Given the description of an element on the screen output the (x, y) to click on. 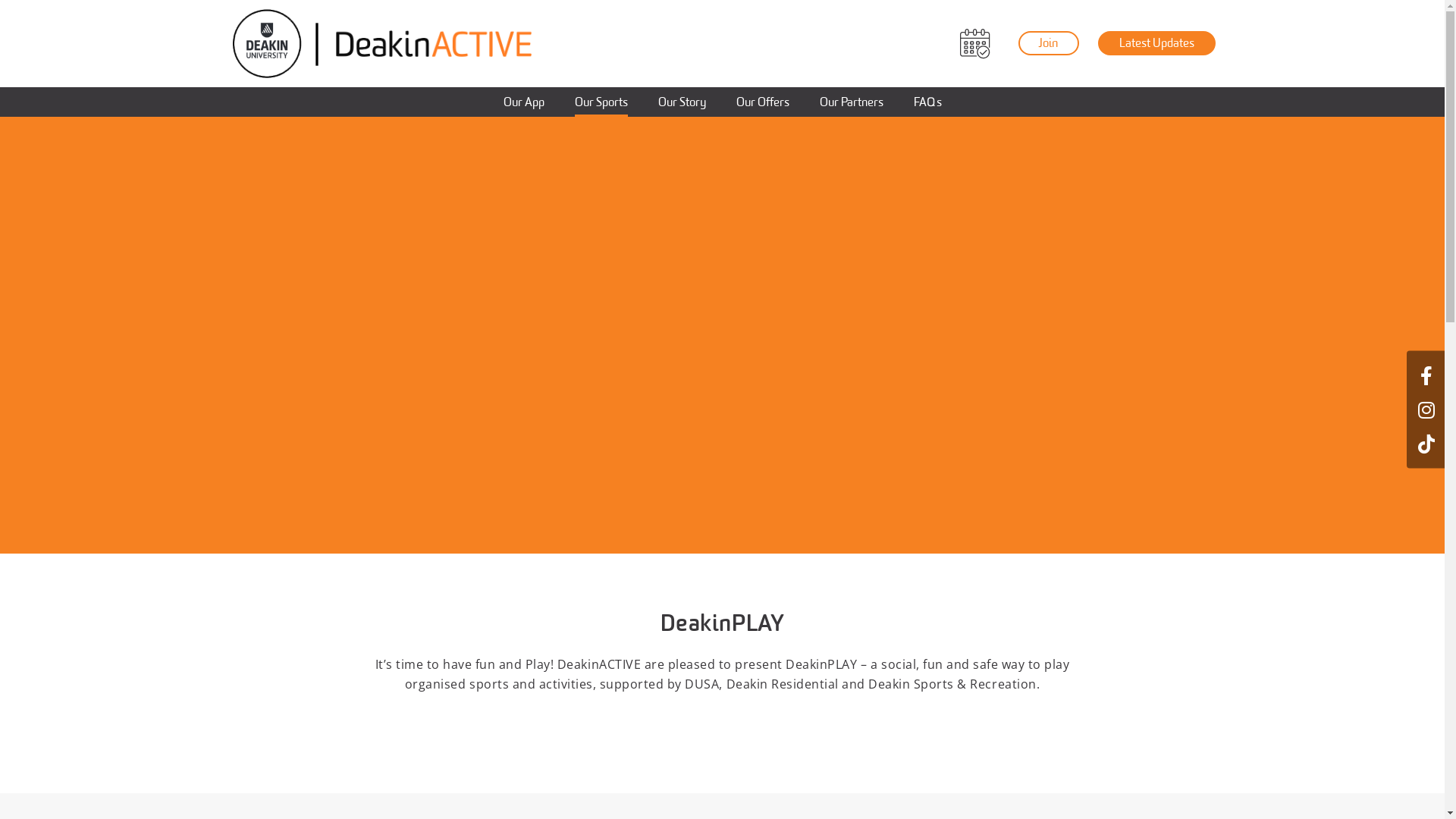
FAQs Element type: text (926, 101)
Our App Element type: text (523, 101)
Our Partners Element type: text (850, 101)
Our Offers Element type: text (761, 101)
Join Element type: text (1047, 43)
Our Story Element type: text (682, 101)
Latest Updates Element type: text (1156, 43)
Our Sports Element type: text (601, 101)
